Given the description of an element on the screen output the (x, y) to click on. 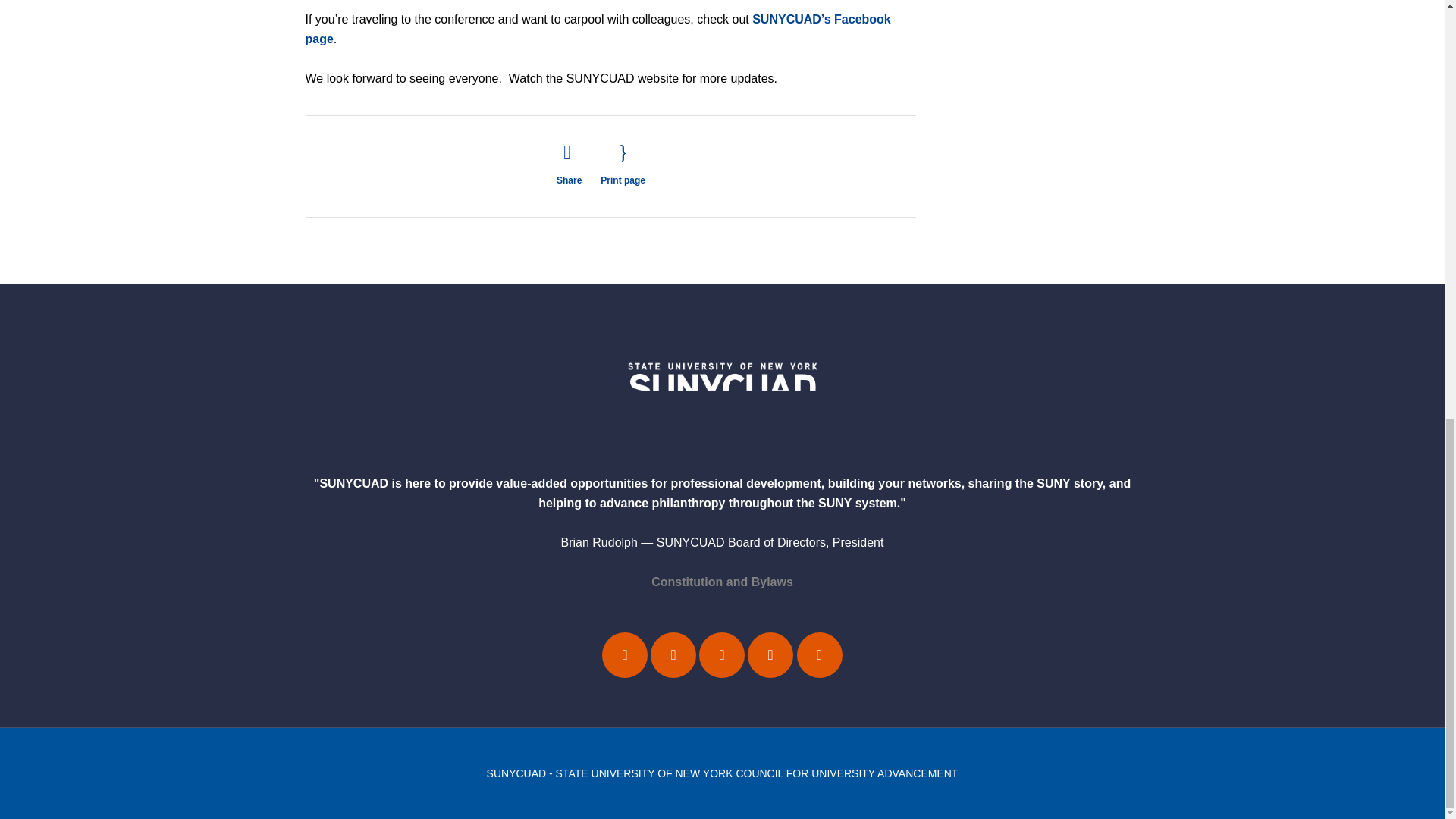
Constitution and Bylaws (721, 581)
Print page (622, 163)
